Given the description of an element on the screen output the (x, y) to click on. 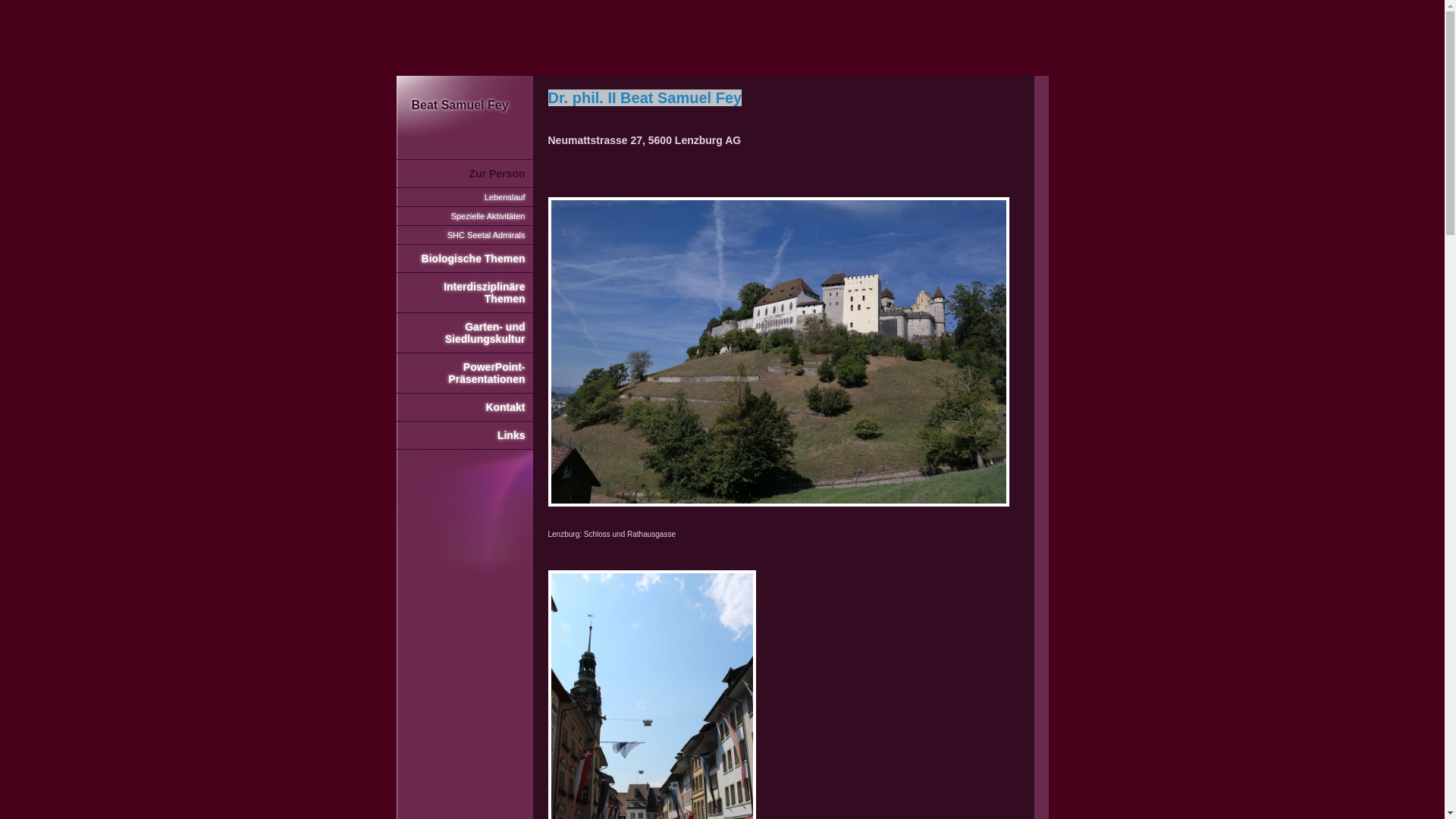
SHC Seetal Admirals Element type: text (463, 234)
Beat Samuel Fey Element type: text (463, 105)
Garten- und Siedlungskultur Element type: text (463, 333)
Kontakt Element type: text (463, 407)
Zur Person Element type: text (463, 174)
Lebenslauf Element type: text (463, 197)
Biologische Themen Element type: text (463, 258)
Links Element type: text (463, 435)
